Given the description of an element on the screen output the (x, y) to click on. 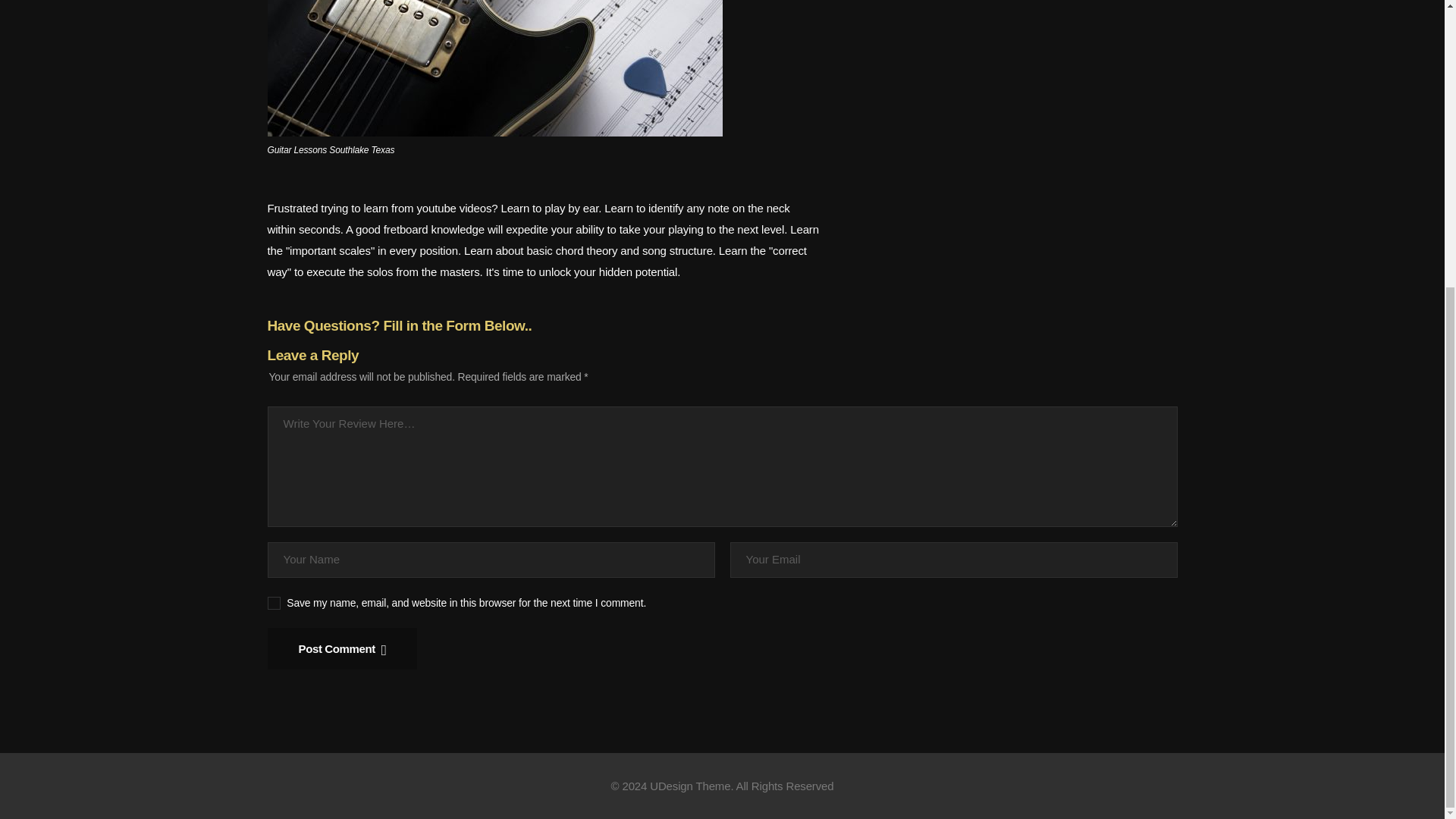
Post Comment (341, 648)
yes (272, 602)
